Given the description of an element on the screen output the (x, y) to click on. 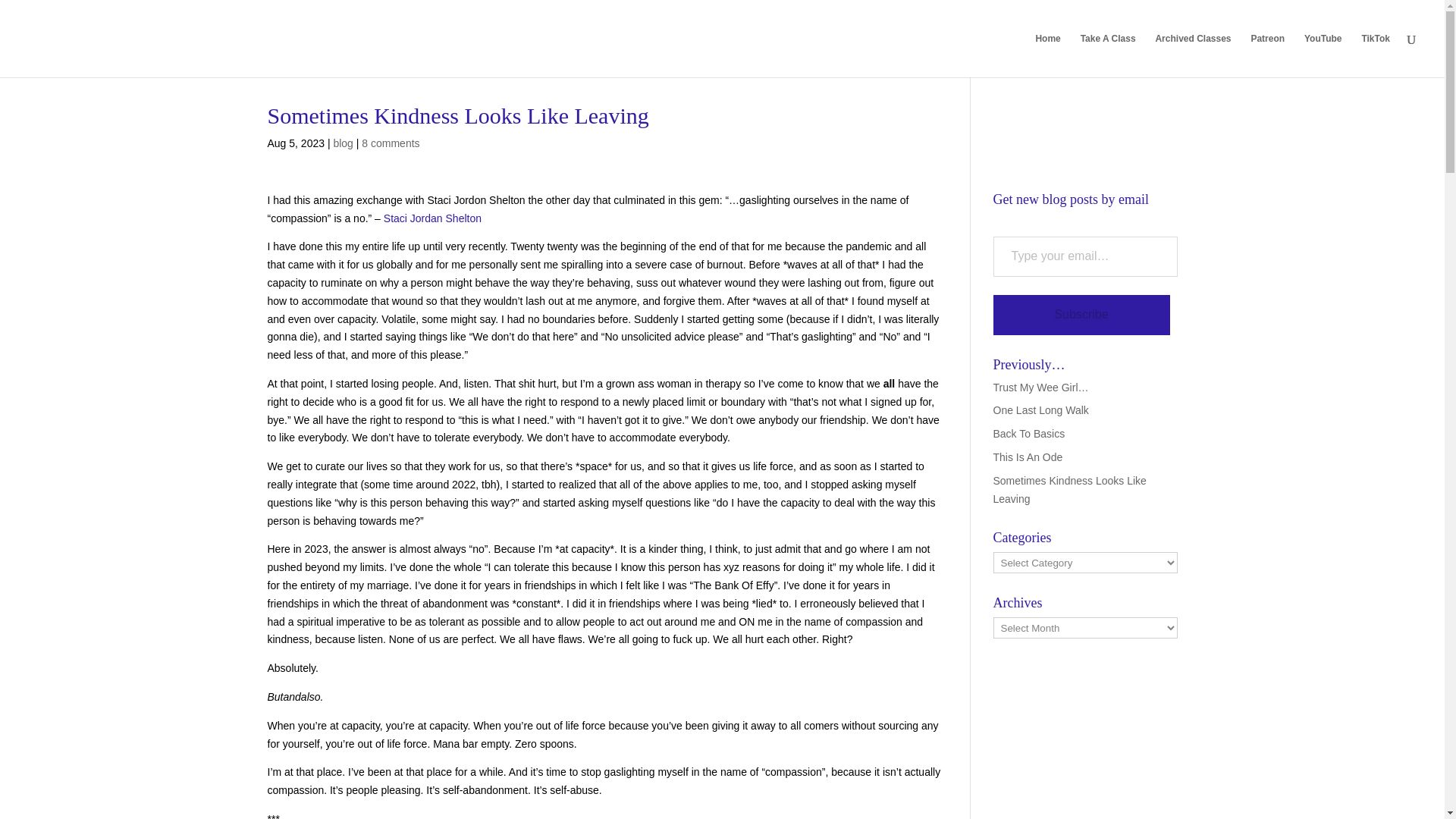
Please fill in this field. (1084, 256)
Back To Basics (1028, 433)
One Last Long Walk (1040, 410)
This Is An Ode (1027, 457)
blog (342, 143)
Staci Jordan Shelton (432, 218)
Take A Class (1107, 54)
Subscribe (1081, 314)
Sometimes Kindness Looks Like Leaving (1069, 490)
8 comments (390, 143)
Archived Classes (1192, 54)
